Given the description of an element on the screen output the (x, y) to click on. 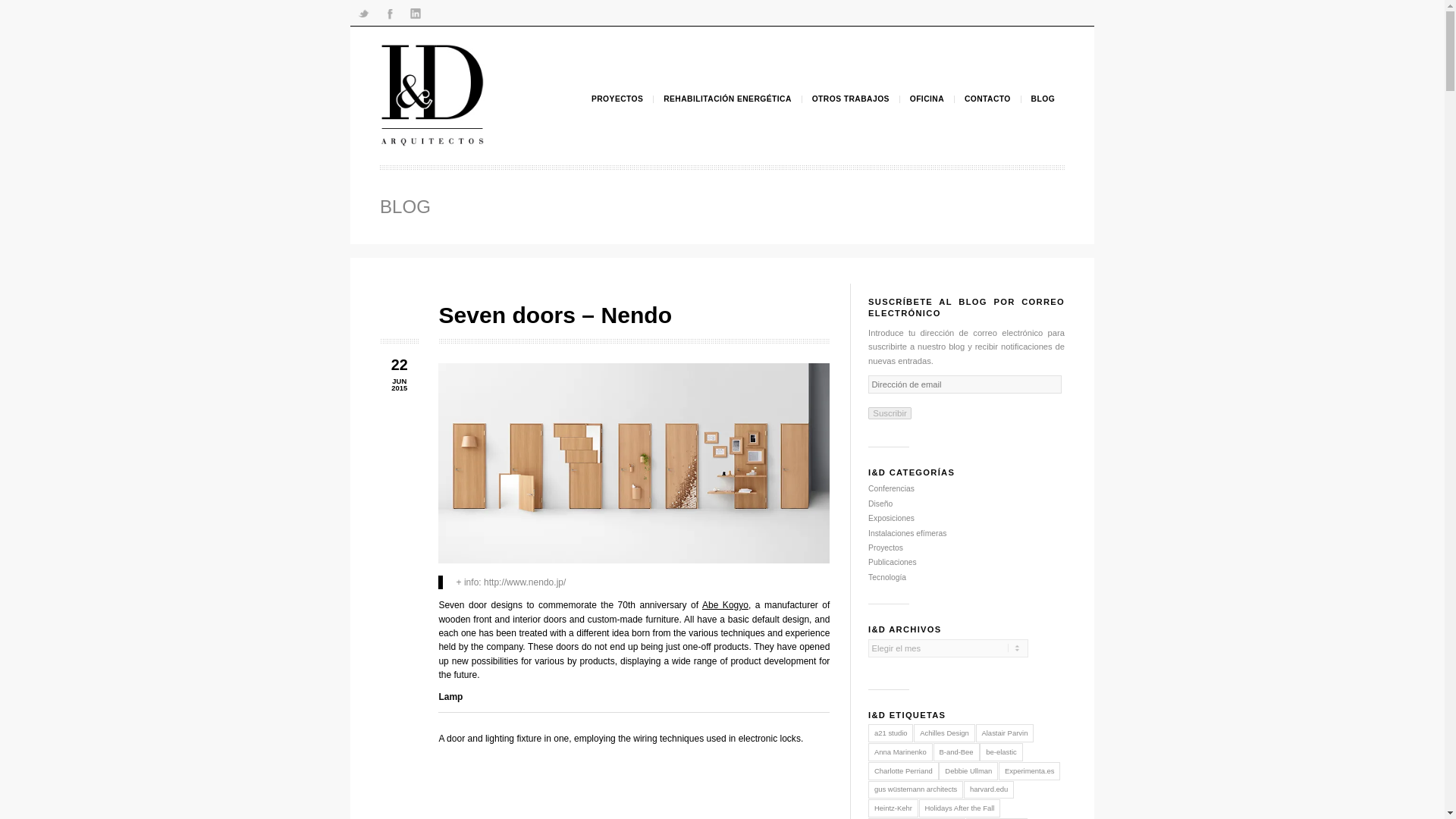
Facebook (453, 15)
Twitter (422, 15)
OFICINA (1077, 114)
OTROS TRABAJOS (988, 114)
proyectos (1029, 637)
Linkedin (483, 15)
PROYECTOS (718, 114)
Abe Kogyo (843, 703)
instalaciones efimeras (1055, 619)
BLOG (1212, 114)
BLOG (471, 239)
Enlace Permanente Blog (471, 239)
CONTACTO (1147, 114)
tecnologia (1032, 671)
